Given the description of an element on the screen output the (x, y) to click on. 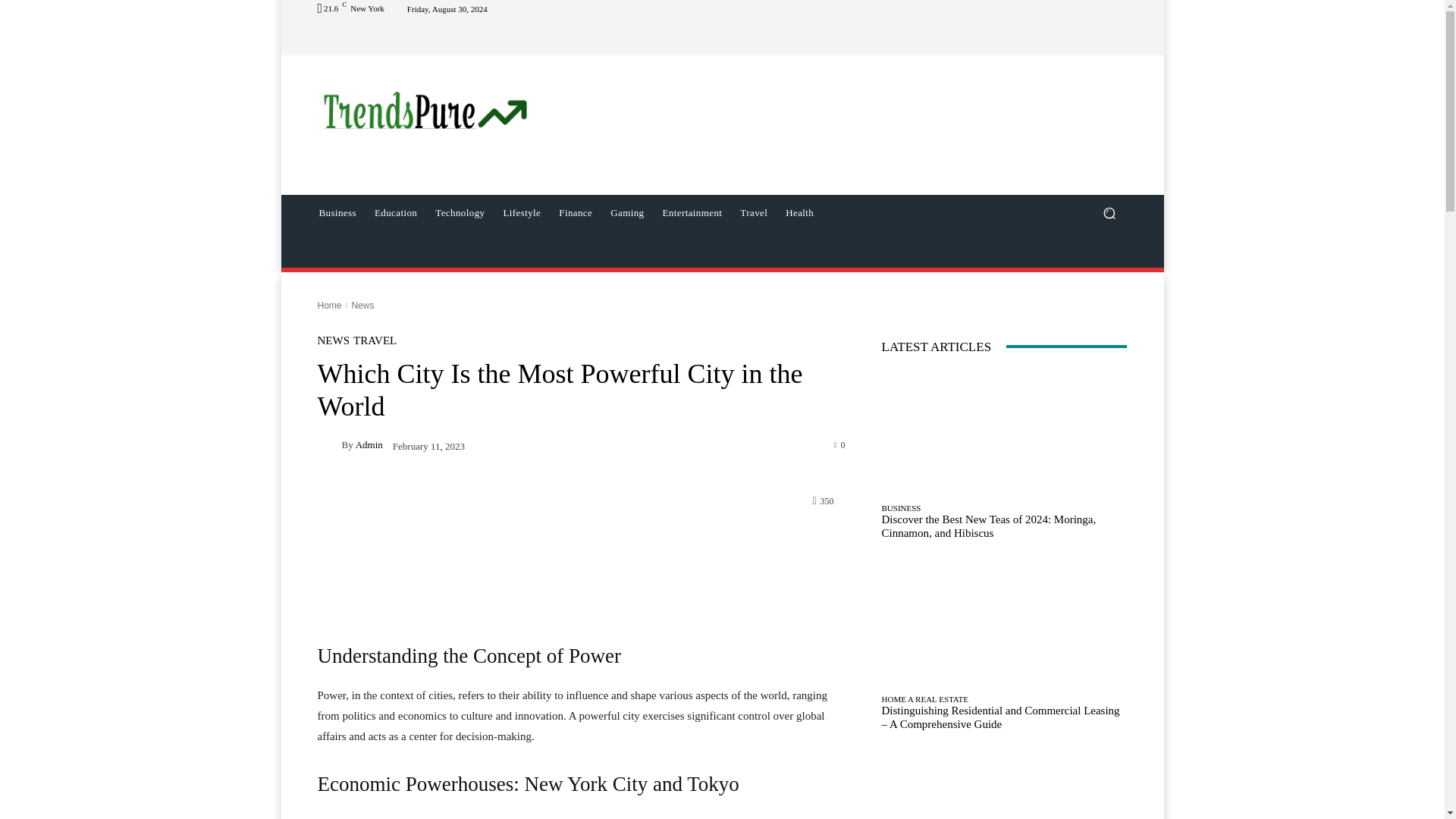
Finance (575, 212)
Business (336, 212)
TRAVEL (374, 340)
Gaming (626, 212)
Home (328, 305)
Admin (368, 444)
Travel (753, 212)
Entertainment (692, 212)
Technology (459, 212)
0 (839, 443)
